Given the description of an element on the screen output the (x, y) to click on. 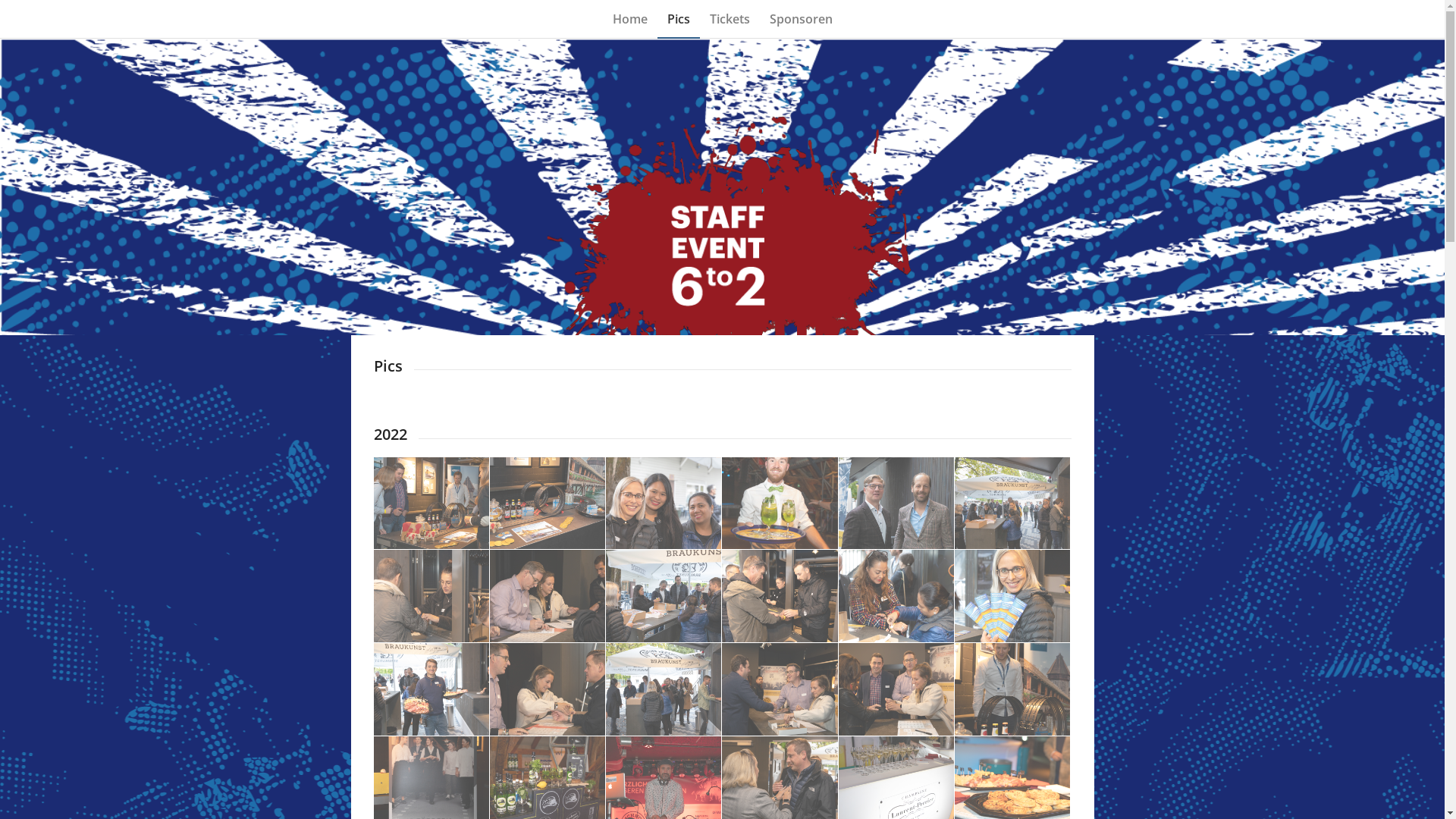
_U5A3494 Element type: hover (896, 503)
_U5A3499 Element type: hover (779, 596)
_U5A3506 Element type: hover (663, 689)
_U5A3503 Element type: hover (547, 689)
_U5A3496 Element type: hover (430, 595)
_U5A3493 Element type: hover (663, 503)
_U5A3503 Element type: hover (547, 689)
_U5A3500 Element type: hover (895, 595)
_U5A3495 Element type: hover (1012, 503)
_U5A3495 Element type: hover (1012, 503)
_U5A3491 Element type: hover (547, 503)
_U5A3497 Element type: hover (547, 596)
_U5A3494 Element type: hover (895, 503)
logo_6to2 Element type: hover (721, 186)
Pics Element type: text (677, 18)
_U5A3502 Element type: hover (430, 689)
_U5A3498 Element type: hover (663, 596)
_U5A3508 Element type: hover (779, 689)
Sponsoren Element type: text (800, 18)
_U5A3496 Element type: hover (431, 596)
_U5A3509 Element type: hover (895, 689)
Tickets Element type: text (729, 18)
_U5A3514 Element type: hover (1012, 689)
_U5A3509 Element type: hover (896, 689)
Home Element type: text (629, 18)
_U5A3538 Element type: hover (779, 503)
_U5A3508 Element type: hover (779, 689)
_U5A3506 Element type: hover (663, 689)
_U5A3538 Element type: hover (779, 503)
_U5A3491 Element type: hover (547, 503)
_U5A3512 Element type: hover (430, 503)
_U5A3499 Element type: hover (779, 595)
_U5A3501 Element type: hover (1012, 595)
_U5A3500 Element type: hover (896, 596)
_U5A3501 Element type: hover (1012, 596)
_U5A3498 Element type: hover (663, 595)
_U5A3514 Element type: hover (1012, 689)
_U5A3512 Element type: hover (431, 503)
_U5A3493 Element type: hover (663, 503)
_U5A3497 Element type: hover (547, 595)
_U5A3502 Element type: hover (431, 689)
